Given the description of an element on the screen output the (x, y) to click on. 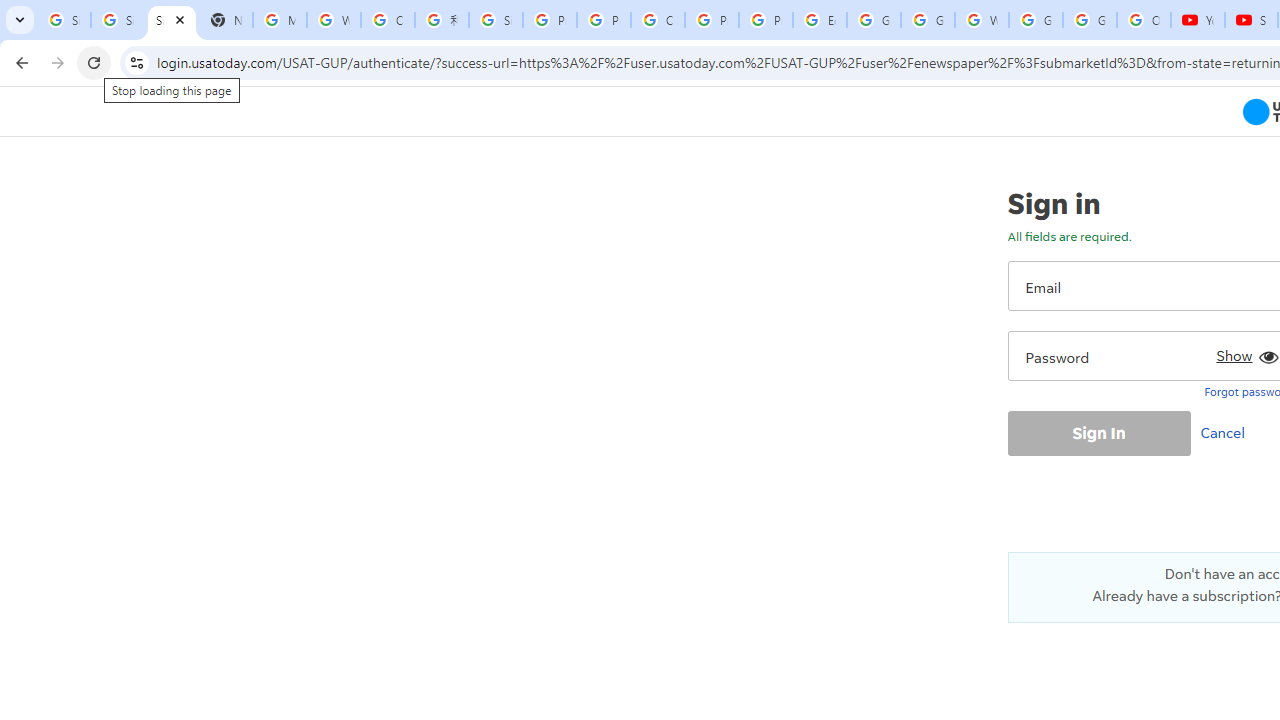
YouTube (1197, 20)
